Given the description of an element on the screen output the (x, y) to click on. 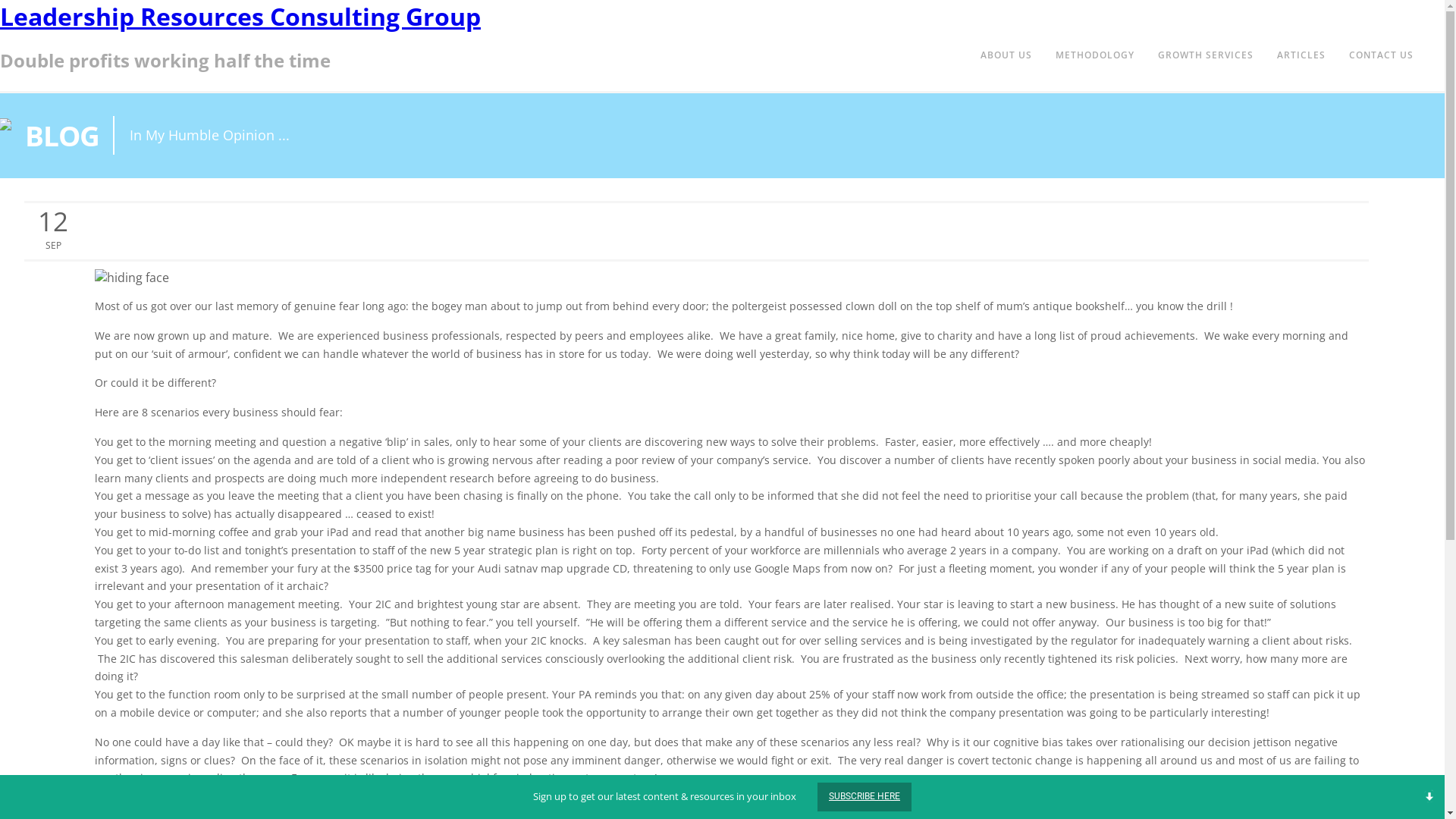
Leadership Element type: text (363, 194)
CONTACT US Element type: text (1381, 54)
SUBSCRIBE HERE Element type: text (864, 796)
Technology Element type: text (469, 194)
Innovation Element type: text (305, 194)
ABOUT US Element type: text (1006, 54)
Strategy Element type: text (416, 194)
ARTICLES Element type: text (1301, 54)
Leadership Resources Consulting Group Element type: text (240, 16)
GROWTH SERVICES Element type: text (1205, 54)
METHODOLOGY Element type: text (1094, 54)
